Given the description of an element on the screen output the (x, y) to click on. 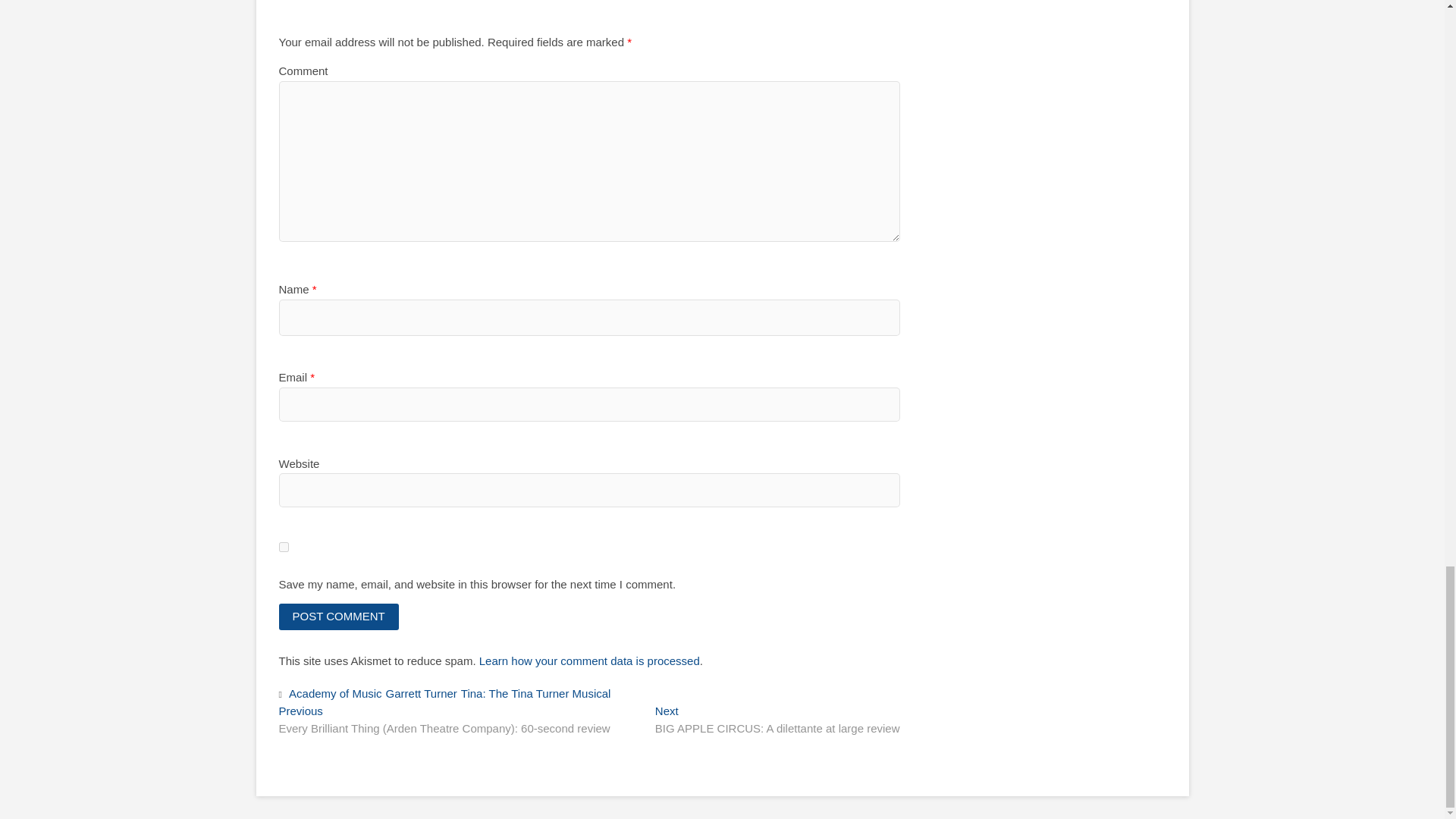
Garrett Turner (423, 695)
Post Comment (338, 616)
Academy of Music (336, 695)
yes (283, 547)
Post Comment (338, 616)
Tina: The Tina Turner Musical (537, 695)
Learn how your comment data is processed (589, 660)
